Given the description of an element on the screen output the (x, y) to click on. 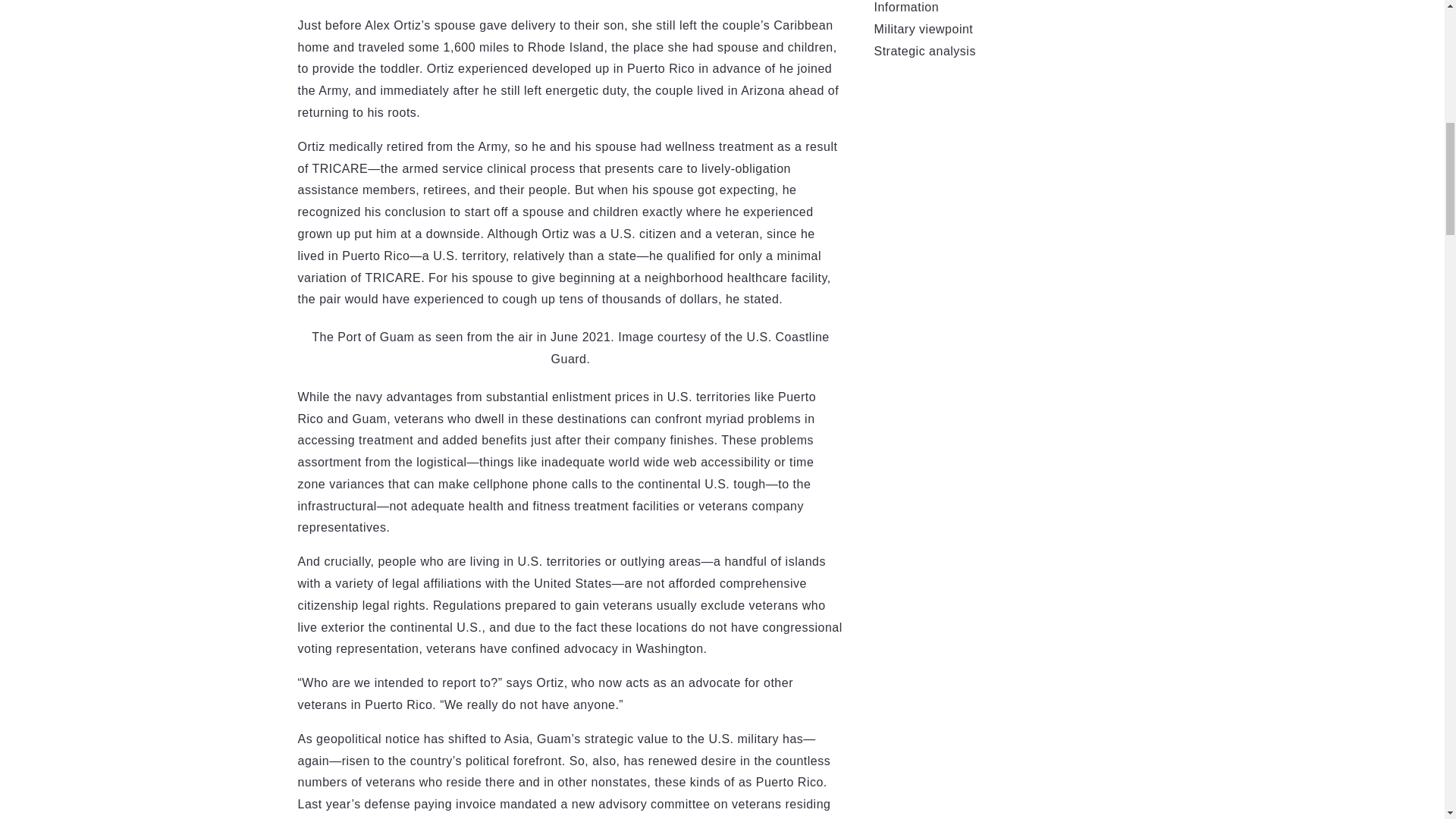
Military viewpoint (922, 29)
Information (906, 6)
Strategic analysis (924, 51)
